Given the description of an element on the screen output the (x, y) to click on. 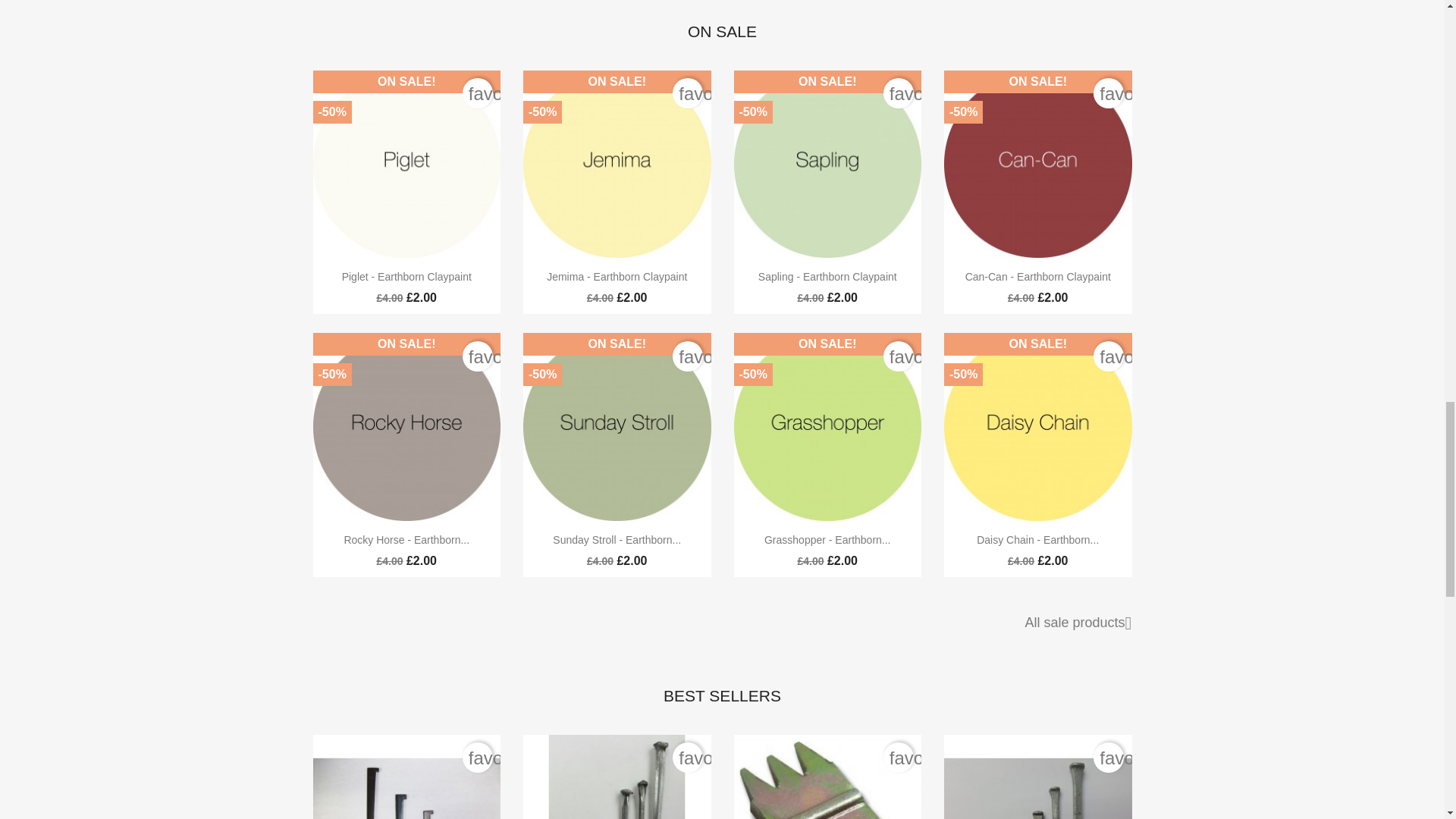
Piglet - Earthborn Claypaint (406, 276)
